Given the description of an element on the screen output the (x, y) to click on. 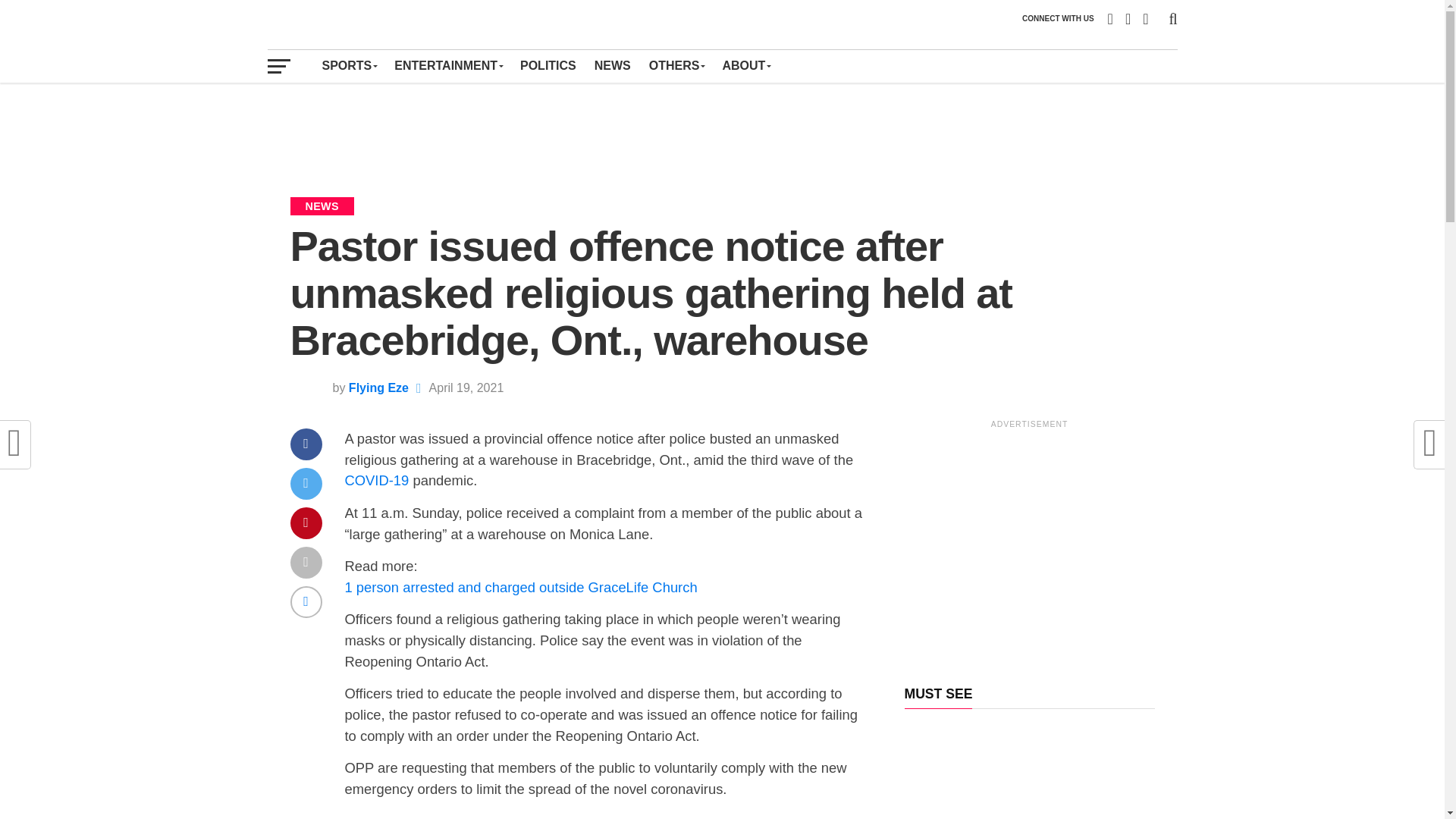
OTHERS (676, 65)
POLITICS (548, 65)
ABOUT (745, 65)
Posts by Flying Eze (379, 387)
1 person arrested and charged outside GraceLife Church (520, 597)
SPORTS (349, 65)
ENTERTAINMENT (448, 65)
NEWS (612, 65)
